Given the description of an element on the screen output the (x, y) to click on. 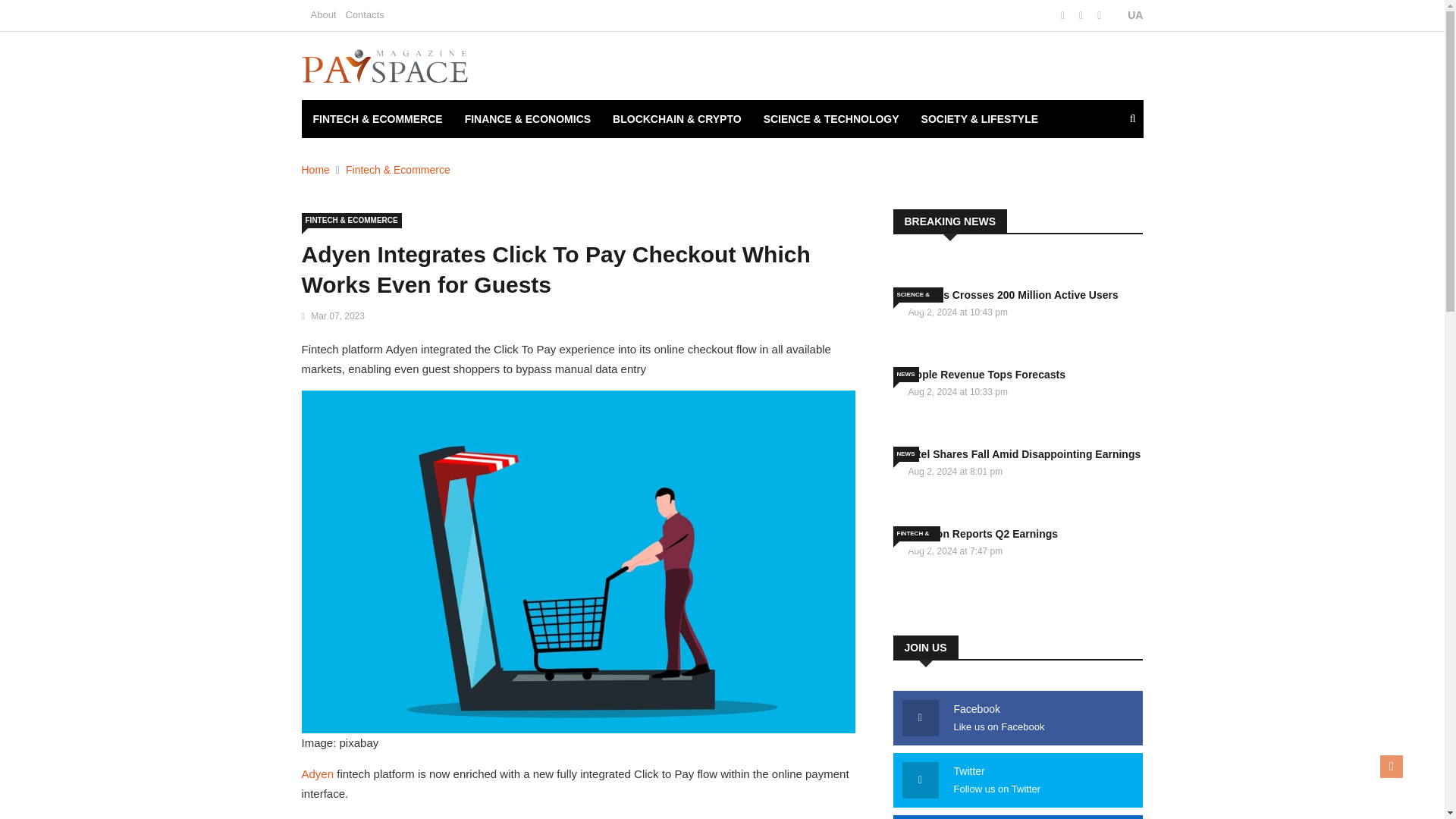
Adyen (317, 773)
About (323, 14)
UA (1127, 15)
Back to Top (1391, 766)
Contacts (364, 14)
Home (315, 169)
BIN CHECKER (349, 157)
